Given the description of an element on the screen output the (x, y) to click on. 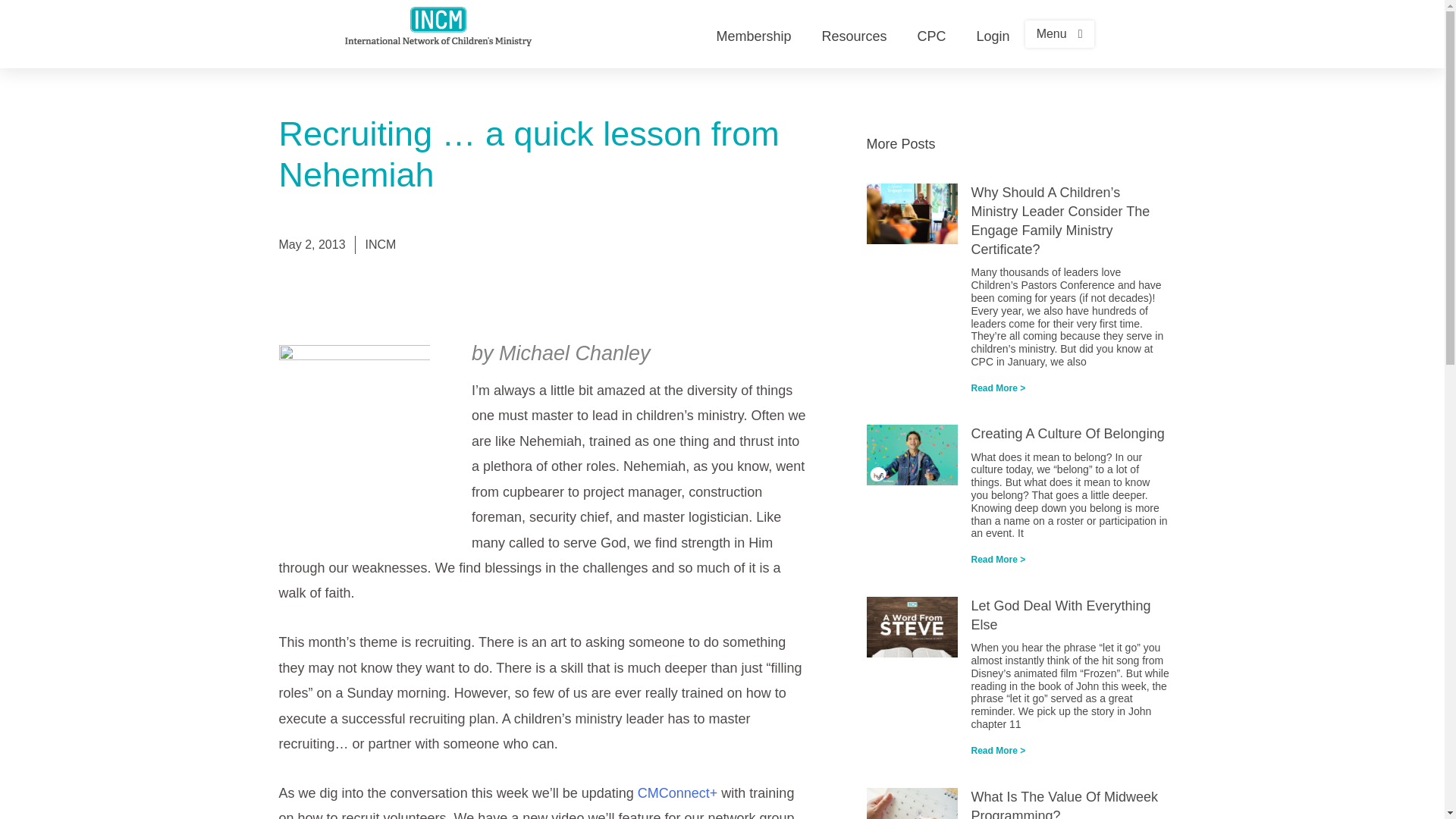
Menu (1059, 33)
CPC (931, 35)
INCM (380, 244)
May 2, 2013 (312, 244)
What Is The Value Of Midweek Programming? (1064, 804)
Login (992, 35)
Creating A Culture Of Belonging (1067, 433)
Let God Deal With Everything Else (1060, 615)
Membership (753, 35)
Resources (854, 35)
